Given the description of an element on the screen output the (x, y) to click on. 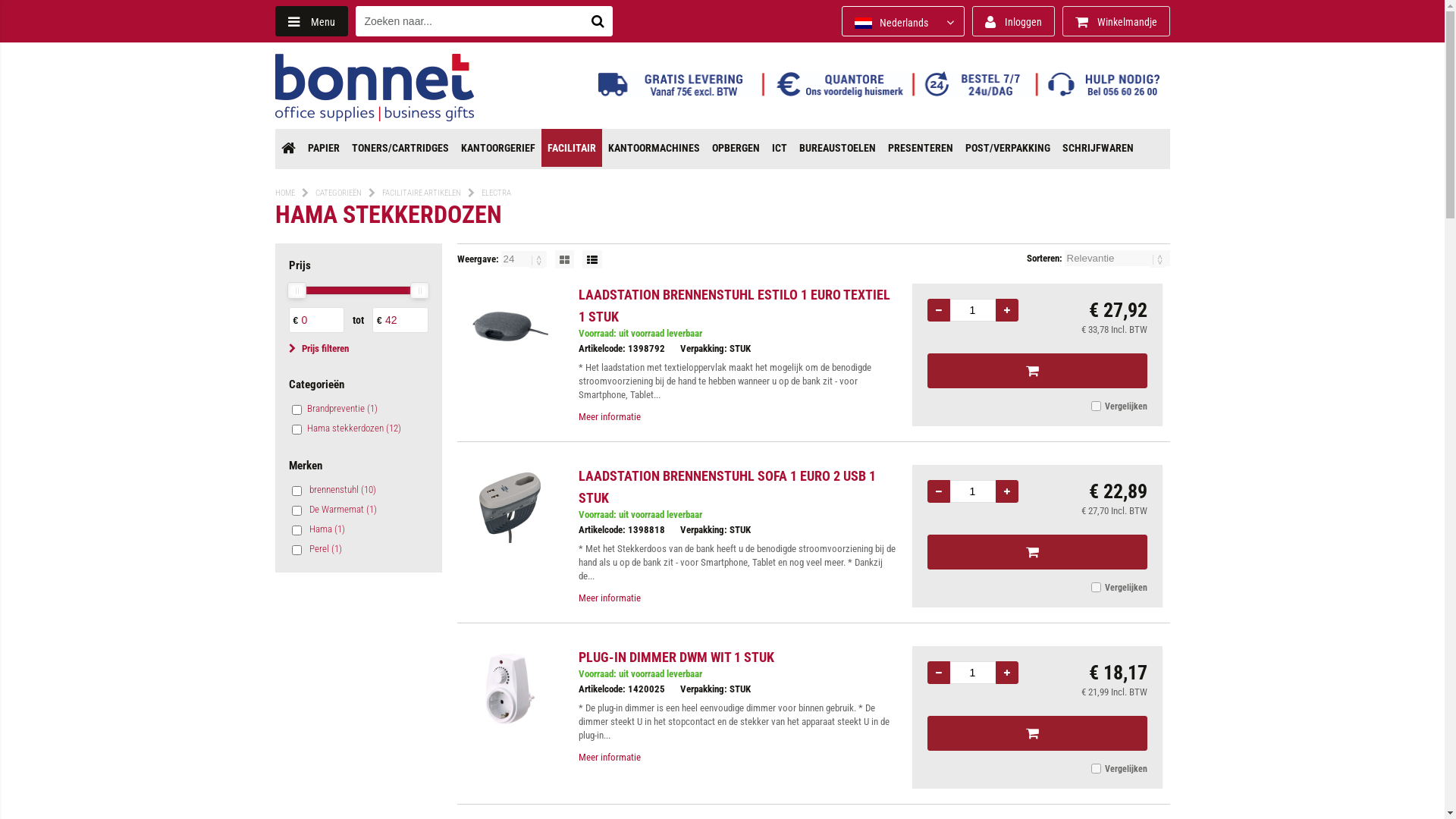
on Element type: text (296, 429)
on Element type: text (296, 490)
Laadstation Brennenstuhl sofa 1 euro 2 USB 1 Stuk Element type: hover (509, 507)
SCHRIJFWAREN Element type: text (1097, 147)
KANTOORMACHINES Element type: text (654, 147)
TONERS/CARTRIDGES Element type: text (400, 147)
POST/VERPAKKING Element type: text (1006, 147)
HOME Element type: text (284, 192)
BUREAUSTOELEN Element type: text (837, 147)
on Element type: text (1095, 406)
Meer informatie Element type: text (608, 597)
PAPIER Element type: text (323, 147)
Toevoegen aan winkelmandje Element type: hover (1036, 732)
on Element type: text (296, 530)
LAADSTATION BRENNENSTUHL SOFA 1 EURO 2 USB 1 STUK Element type: text (726, 486)
Meer informatie Element type: text (608, 757)
on Element type: text (1095, 768)
Winkelmandje Element type: text (1115, 21)
on Element type: text (296, 510)
Toevoegen aan winkelmandje Element type: hover (1036, 370)
Meer informatie Element type: text (608, 416)
on Element type: text (296, 550)
Toevoegen aan winkelmandje Element type: hover (1036, 551)
PRESENTEREN Element type: text (919, 147)
ICT Element type: text (779, 147)
PLUG-IN DIMMER DWM WIT 1 STUK Element type: text (675, 657)
on Element type: text (296, 409)
FACILITAIR Element type: text (571, 147)
OPBERGEN Element type: text (735, 147)
ELECTRA Element type: text (495, 192)
FACILITAIRE ARTIKELEN Element type: text (421, 192)
on Element type: text (1095, 587)
KANTOORGERIEF Element type: text (498, 147)
Laadstation Brennenstuhl Estilo 1 euro textiel 1 Stuk Element type: hover (509, 326)
Plug-in dimmer DWM wit 1 Stuk Element type: hover (509, 688)
LAADSTATION BRENNENSTUHL ESTILO 1 EURO TEXTIEL 1 STUK Element type: text (733, 305)
